Given the description of an element on the screen output the (x, y) to click on. 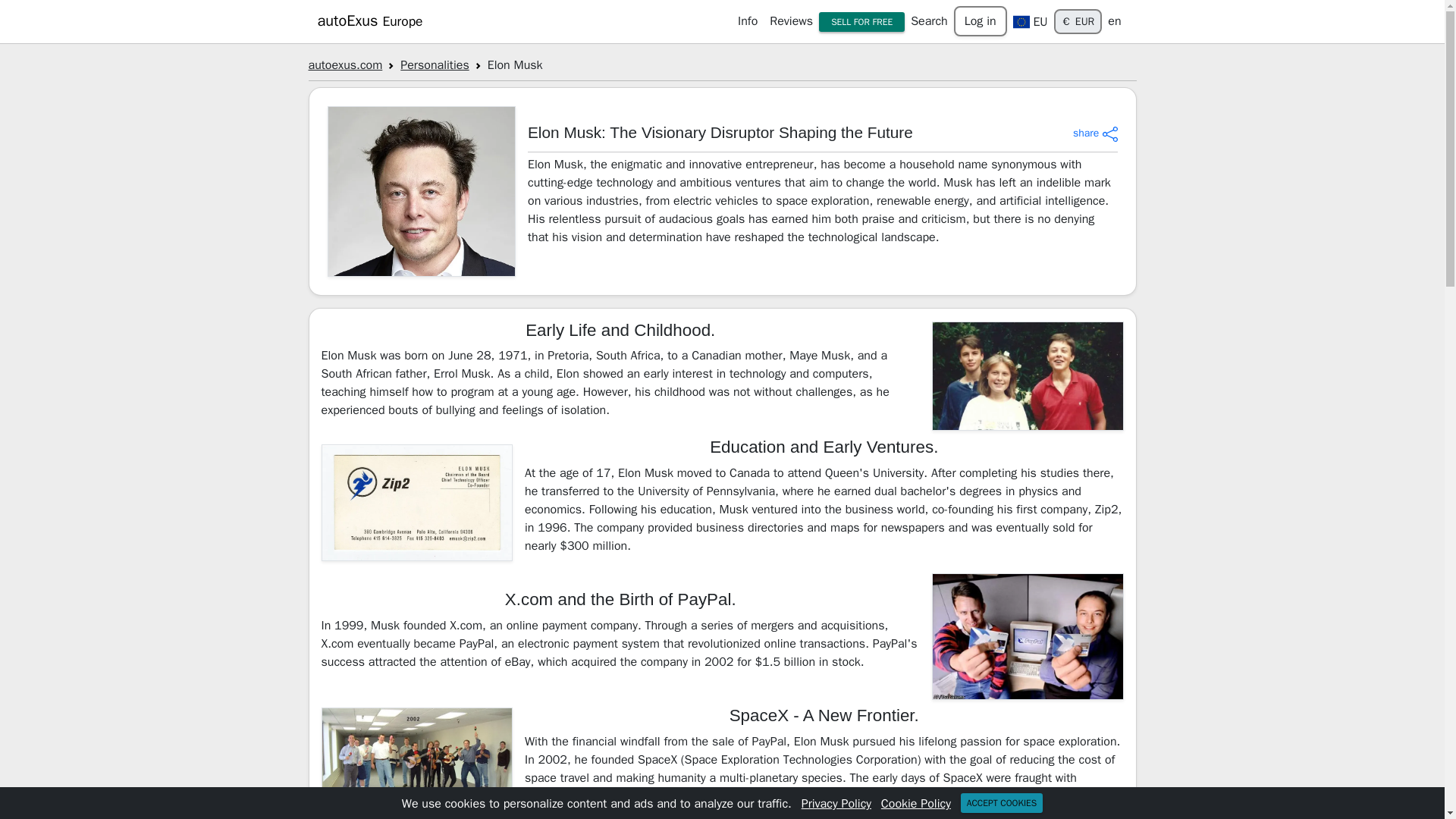
Elon Musk and the SpaceX team 2002 (417, 761)
Search (928, 20)
Log in (980, 20)
Elon Musk (421, 191)
Privacy Policy (836, 803)
share (1095, 132)
Reviews (790, 20)
autoExus Europe (369, 20)
SELL FOR FREE (861, 21)
ZIP2 business card 1996 (417, 502)
